Given the description of an element on the screen output the (x, y) to click on. 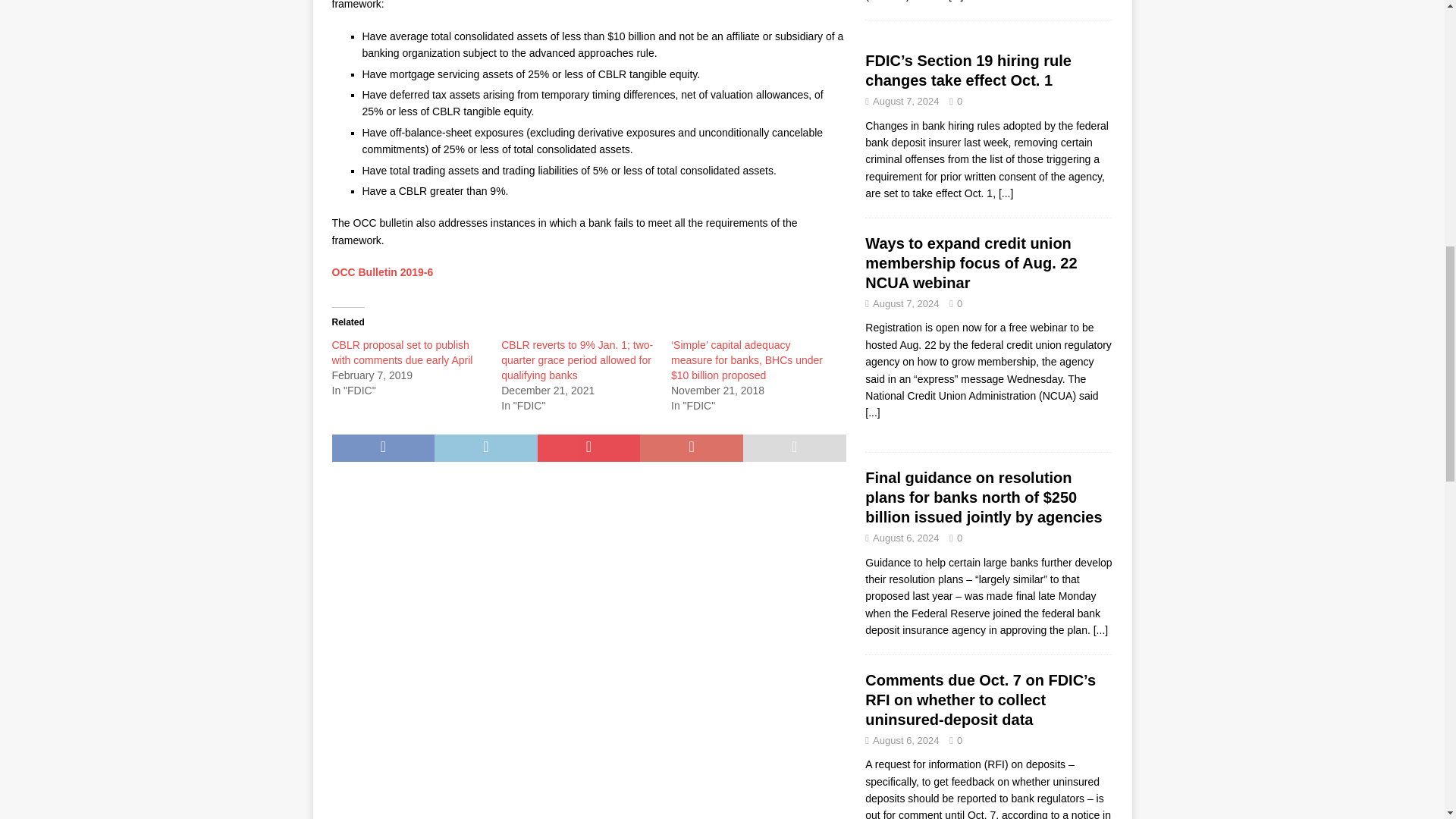
CBLR proposal set to publish with comments due early April (402, 352)
CBLR proposal set to publish with comments due early April (402, 352)
OCC Bulletin 2019-6 (382, 272)
